Given the description of an element on the screen output the (x, y) to click on. 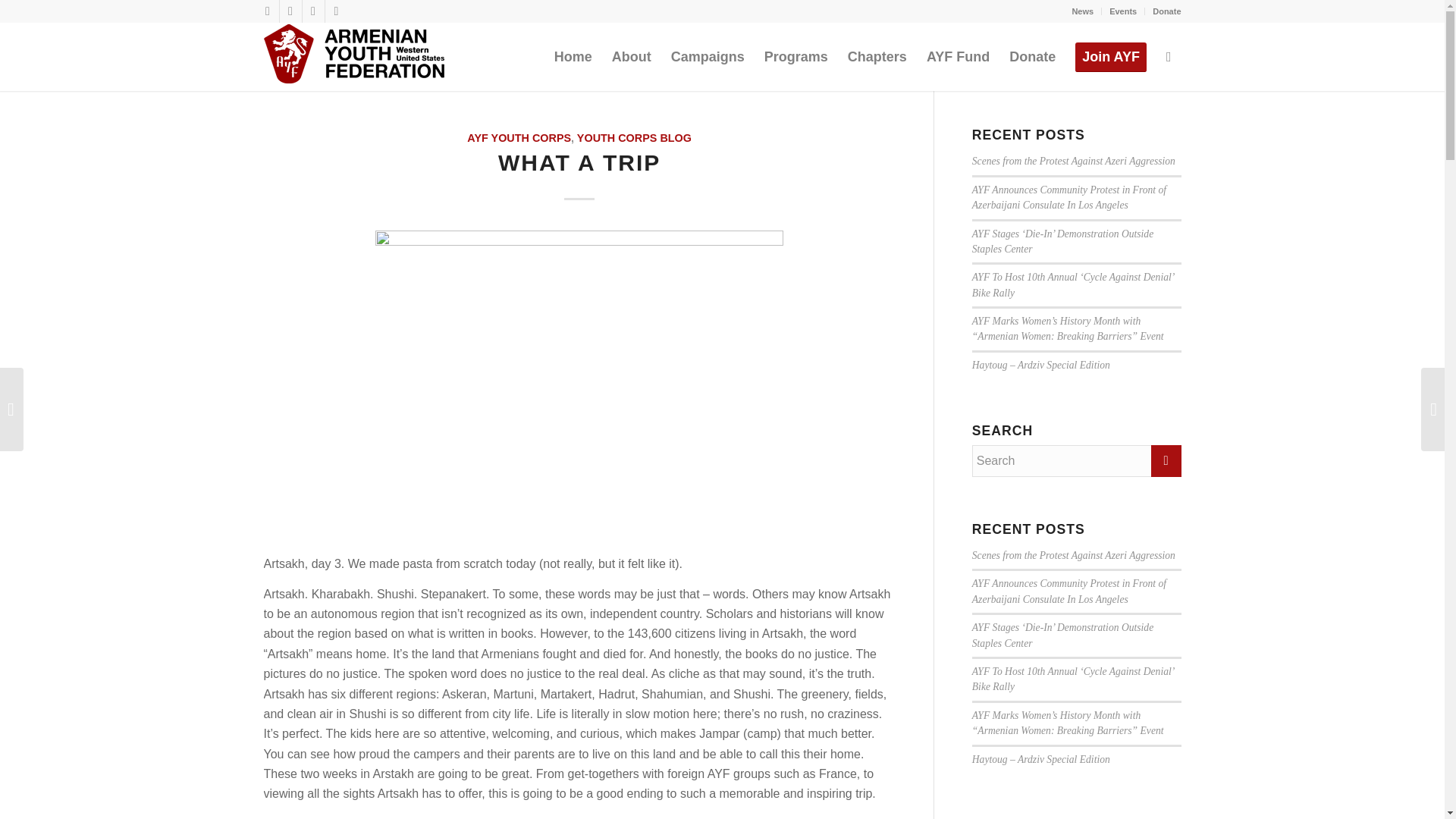
Join AYF (1110, 56)
Youtube (335, 11)
Twitter (290, 11)
Donate (1166, 11)
YOUTH CORPS BLOG (633, 137)
Permanent Link: What A Trip (579, 162)
AYF Fund (957, 56)
WHAT A TRIP (579, 162)
News (1082, 11)
Events (1123, 11)
